Given the description of an element on the screen output the (x, y) to click on. 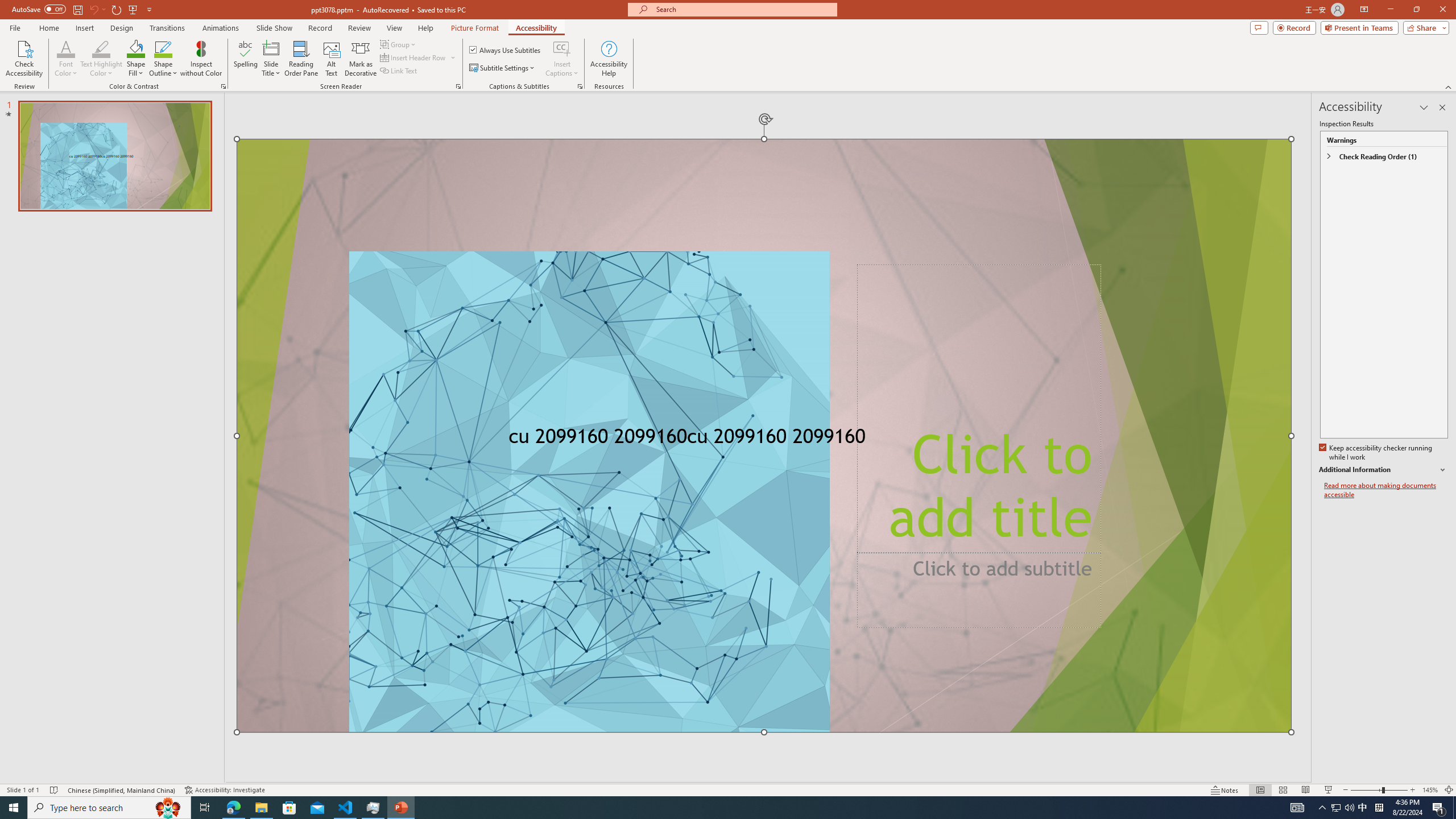
Mark as Decorative (360, 58)
Captions & Subtitles (580, 85)
Link Text (399, 69)
Subtitle Settings (502, 67)
